Given the description of an element on the screen output the (x, y) to click on. 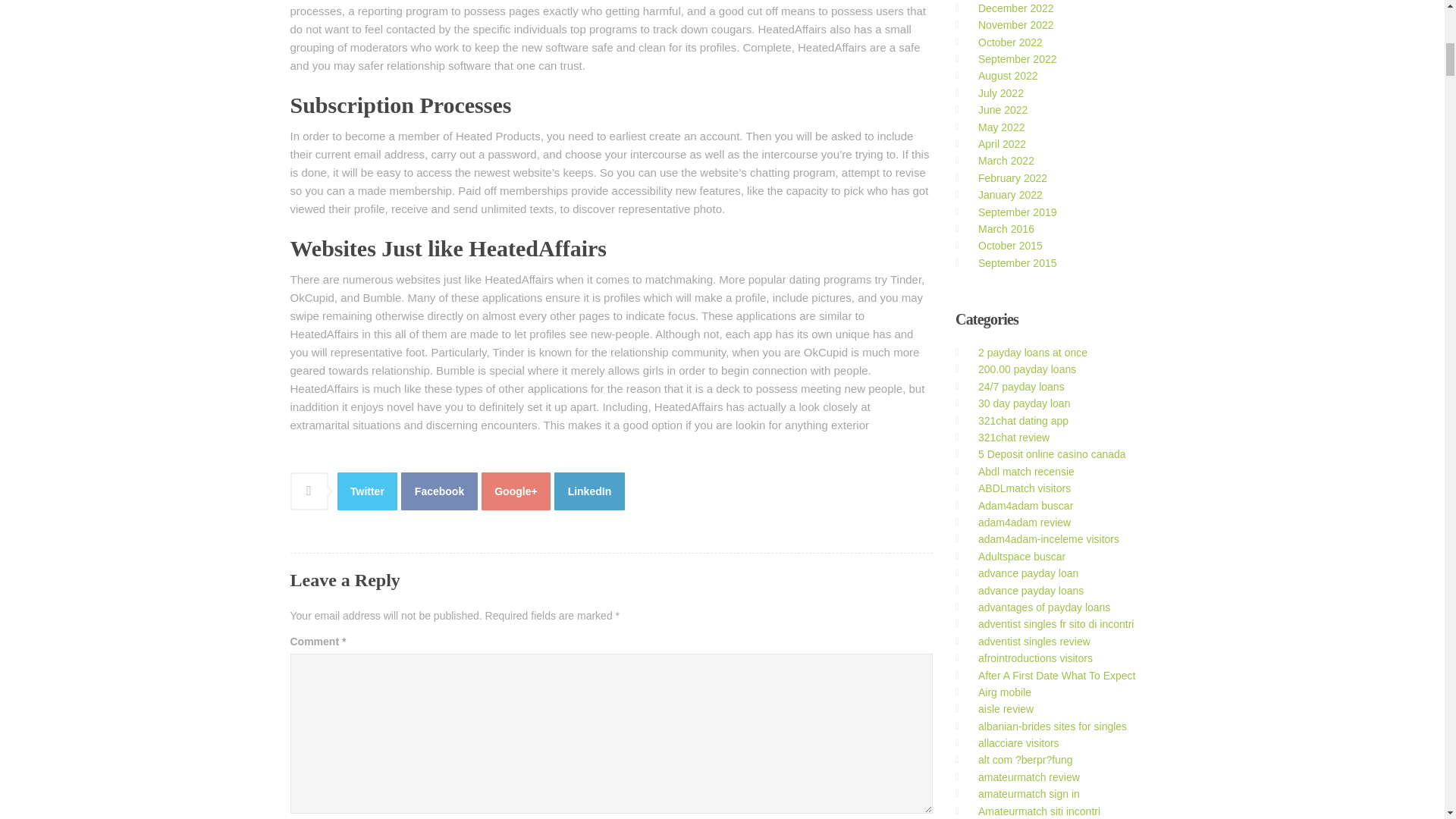
Twitter (366, 491)
LinkedIn (589, 491)
Facebook (439, 491)
